Given the description of an element on the screen output the (x, y) to click on. 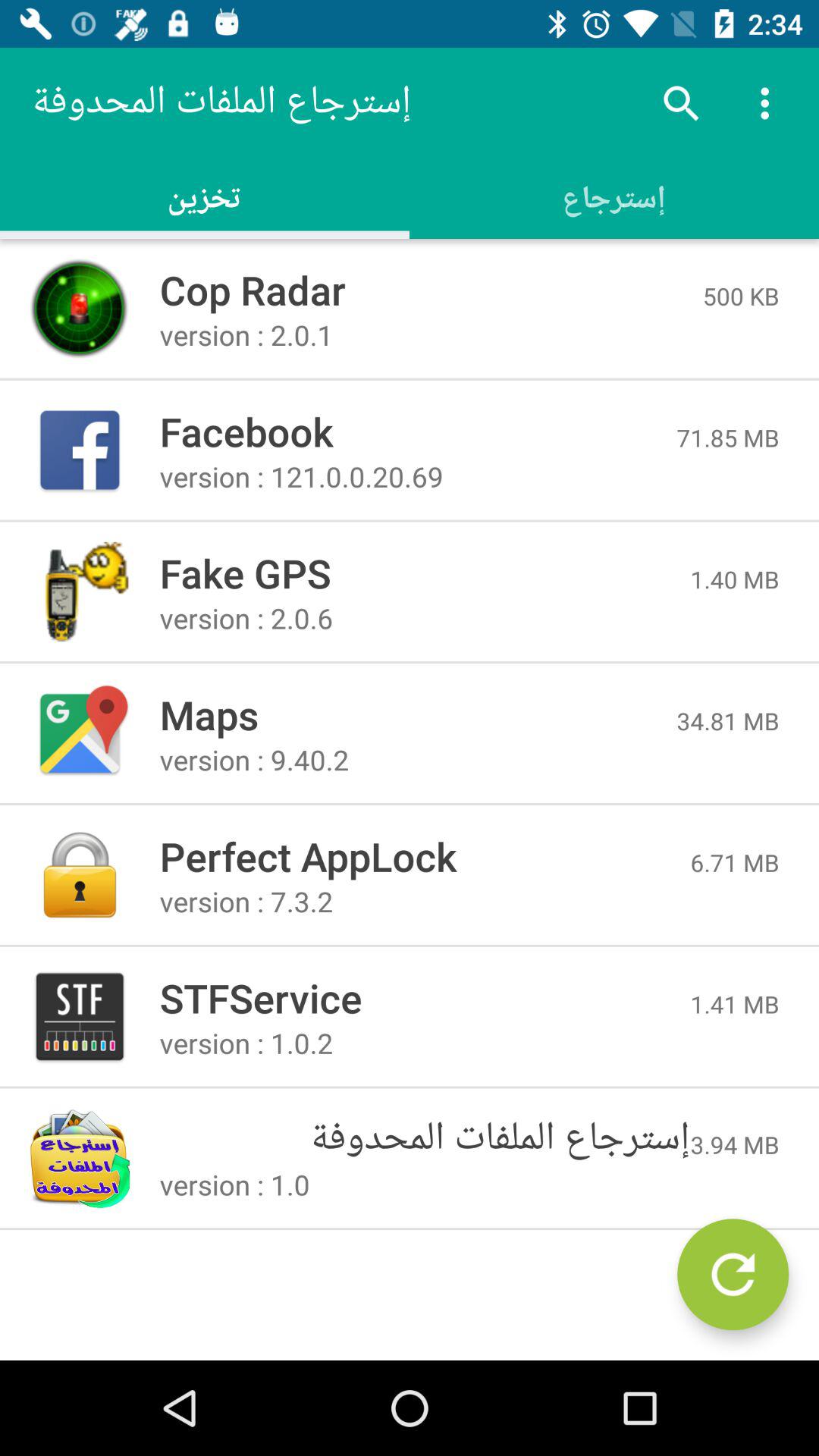
turn off the item to the left of the 34.81 mb icon (417, 714)
